Given the description of an element on the screen output the (x, y) to click on. 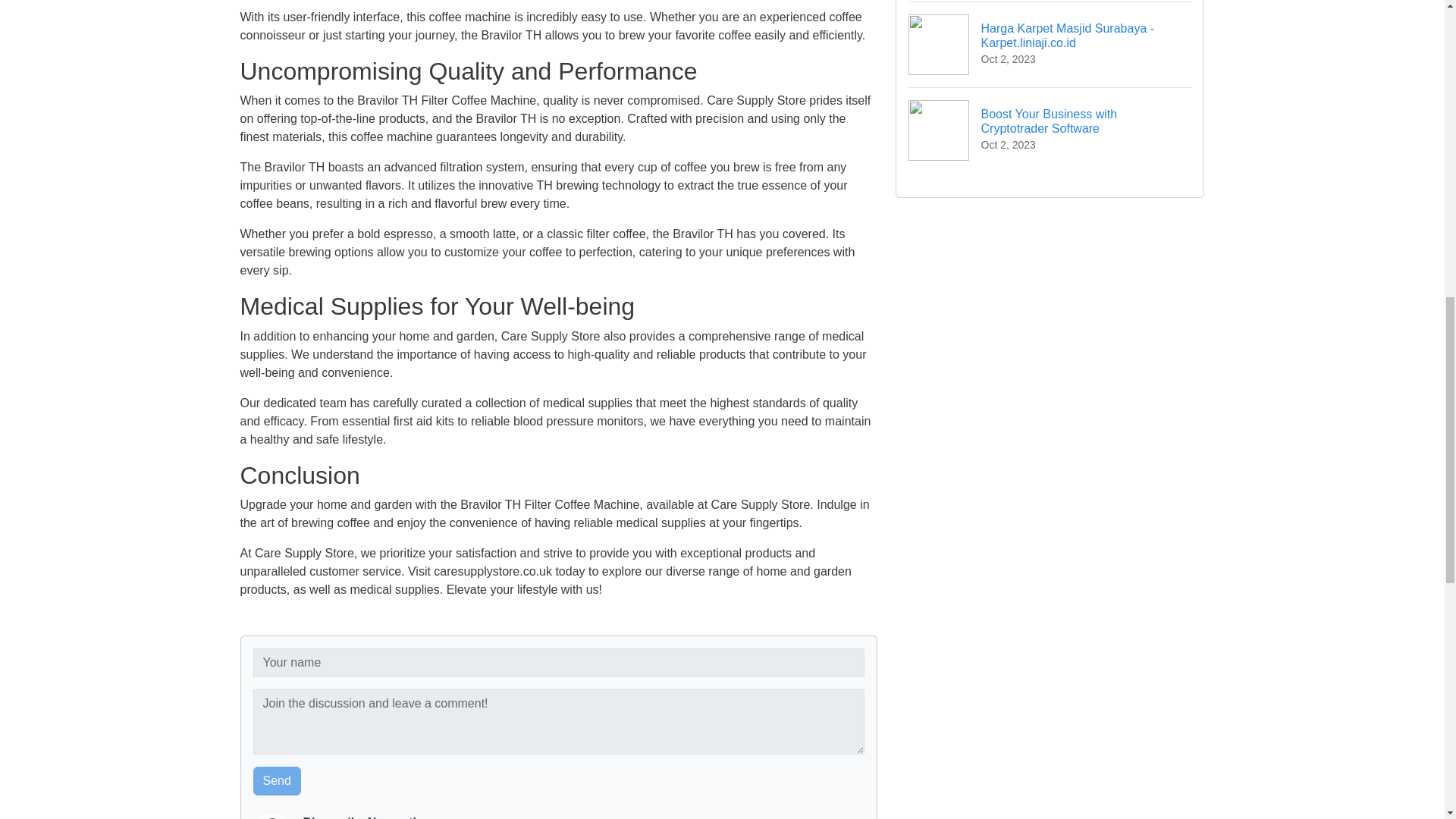
Send (277, 780)
Send (1050, 129)
